Given the description of an element on the screen output the (x, y) to click on. 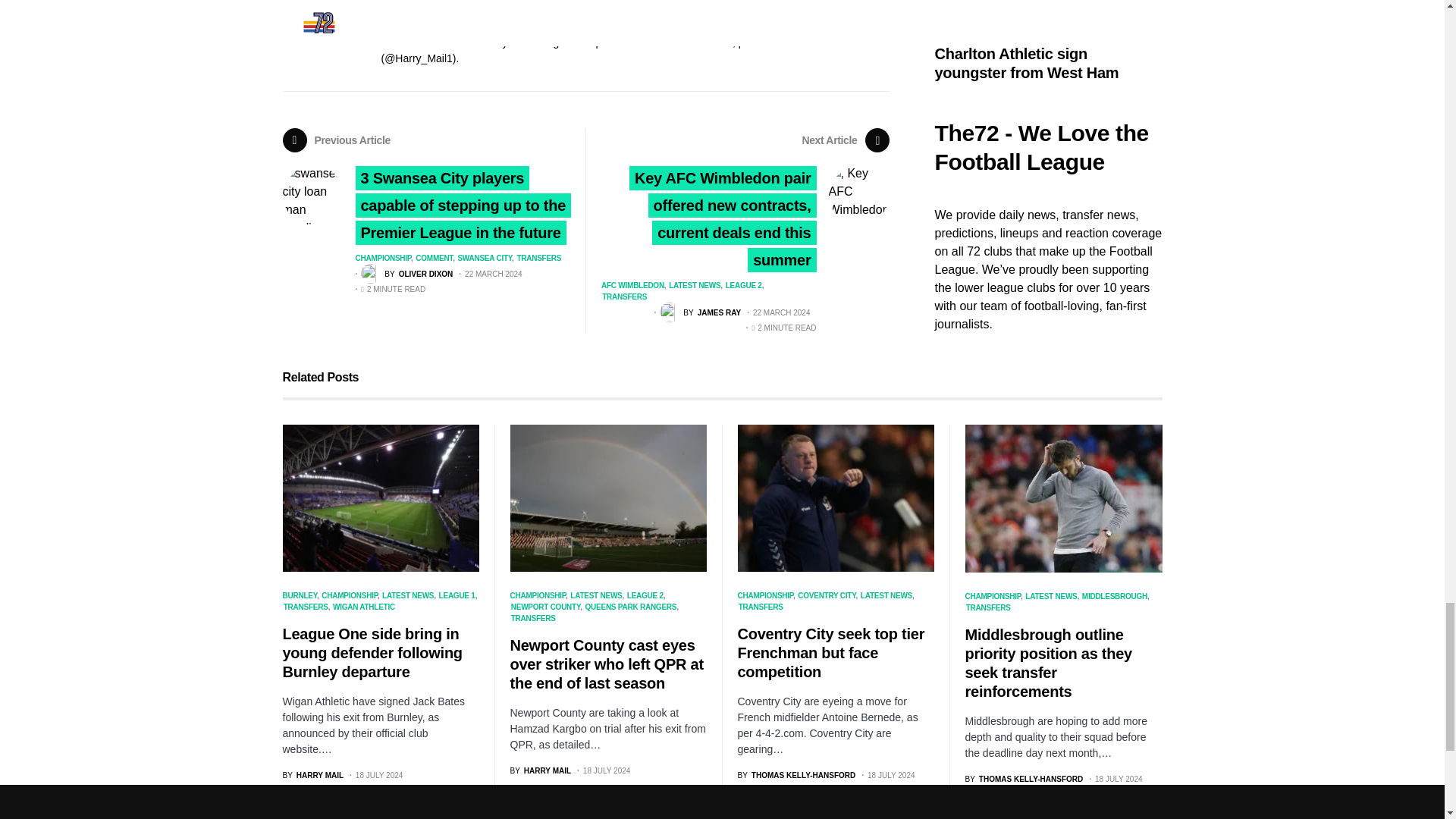
View all posts by James Ray (700, 312)
View all posts by Thomas Kelly-Hansford (1023, 778)
View all posts by Harry Mail (539, 770)
View all posts by Thomas Kelly-Hansford (796, 775)
View all posts by Oliver Dixon (406, 273)
View all posts by Harry Mail (312, 775)
